Given the description of an element on the screen output the (x, y) to click on. 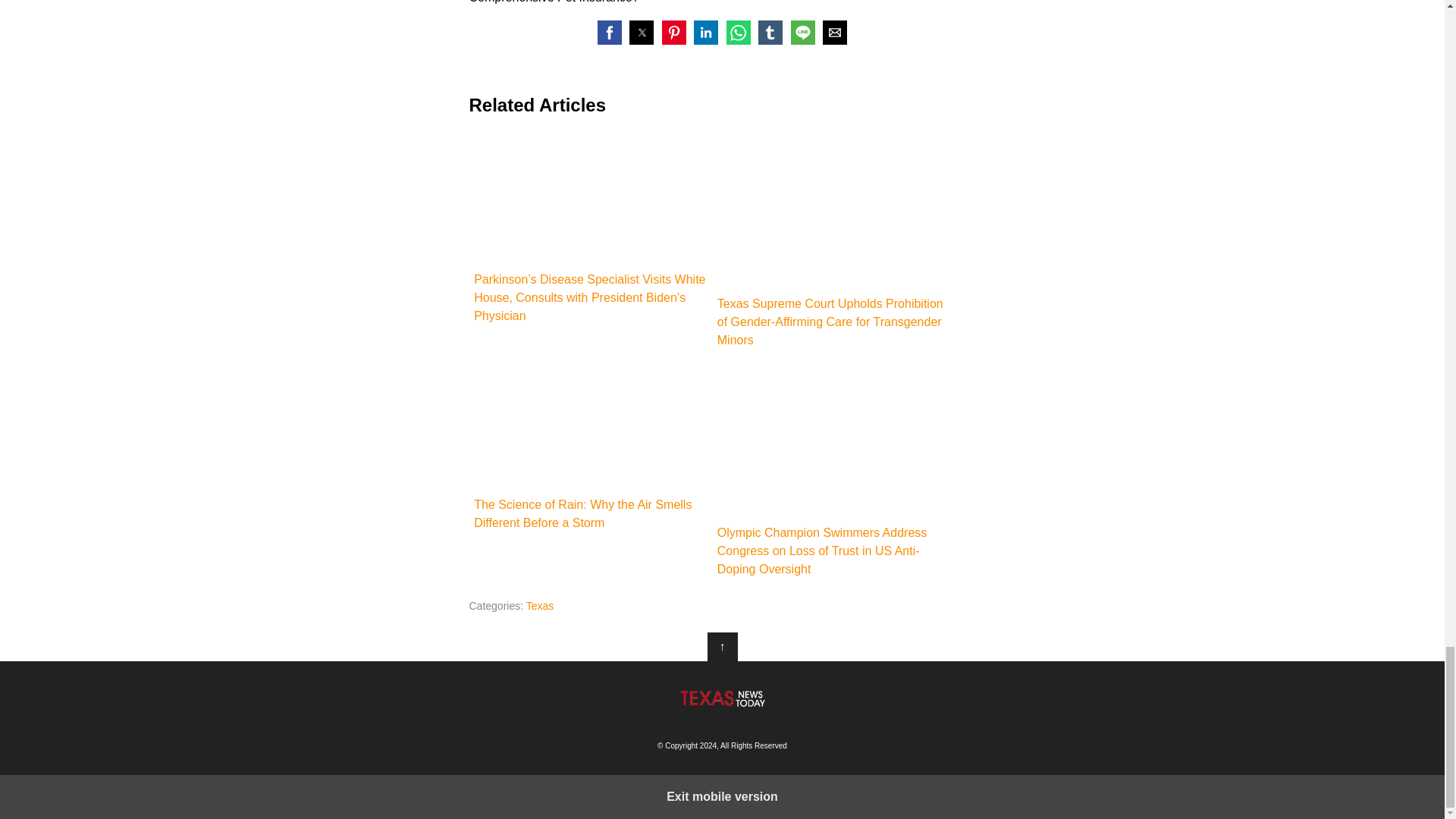
Texas (539, 605)
Texasnewstoday.com (721, 698)
